Given the description of an element on the screen output the (x, y) to click on. 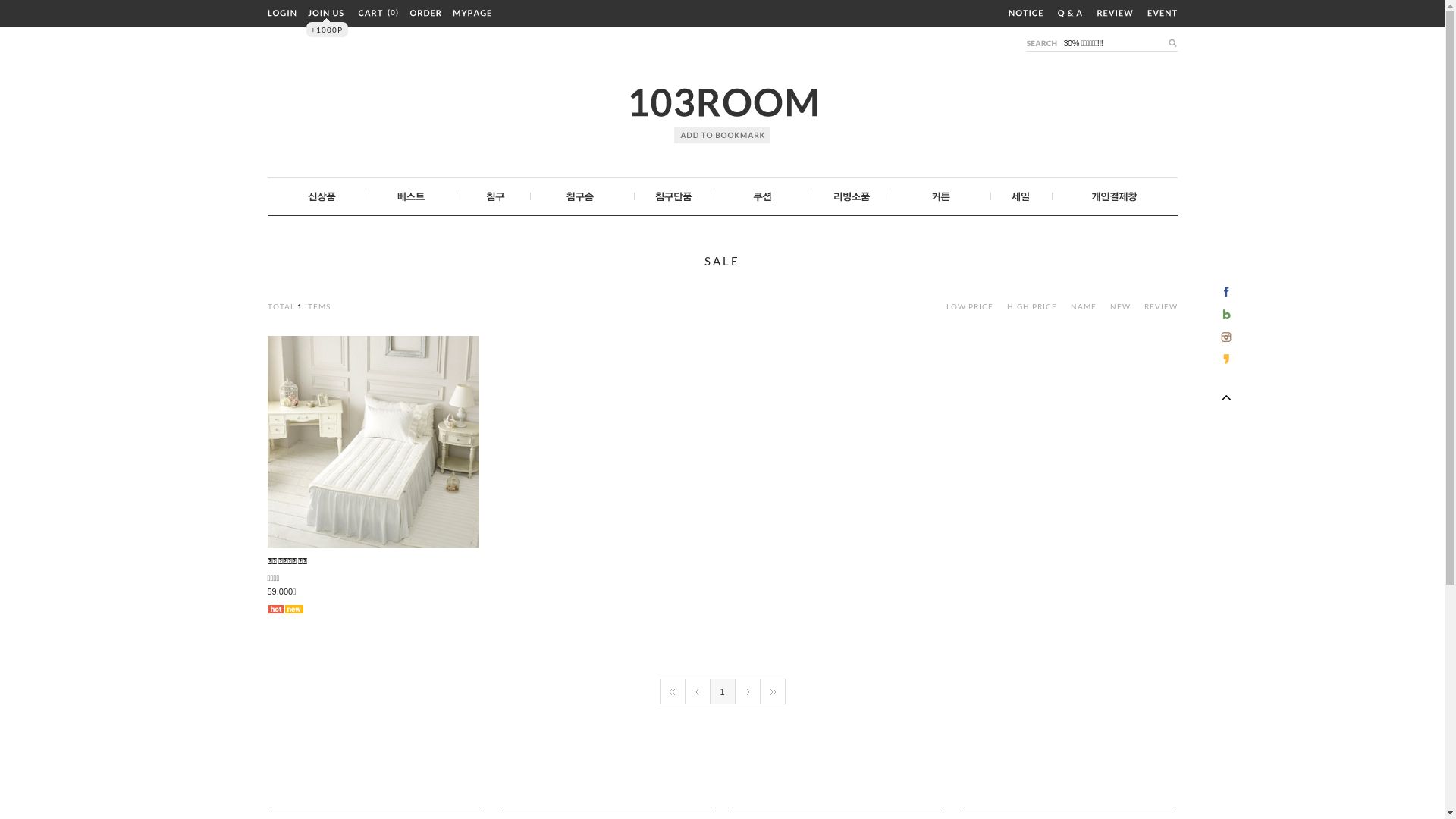
1 Element type: text (721, 691)
NAME Element type: text (1083, 305)
HIGH PRICE Element type: text (1032, 305)
NEW Element type: text (1121, 305)
REVIEW Element type: text (1159, 305)
+1000P Element type: text (327, 29)
LOW PRICE Element type: text (969, 305)
